Given the description of an element on the screen output the (x, y) to click on. 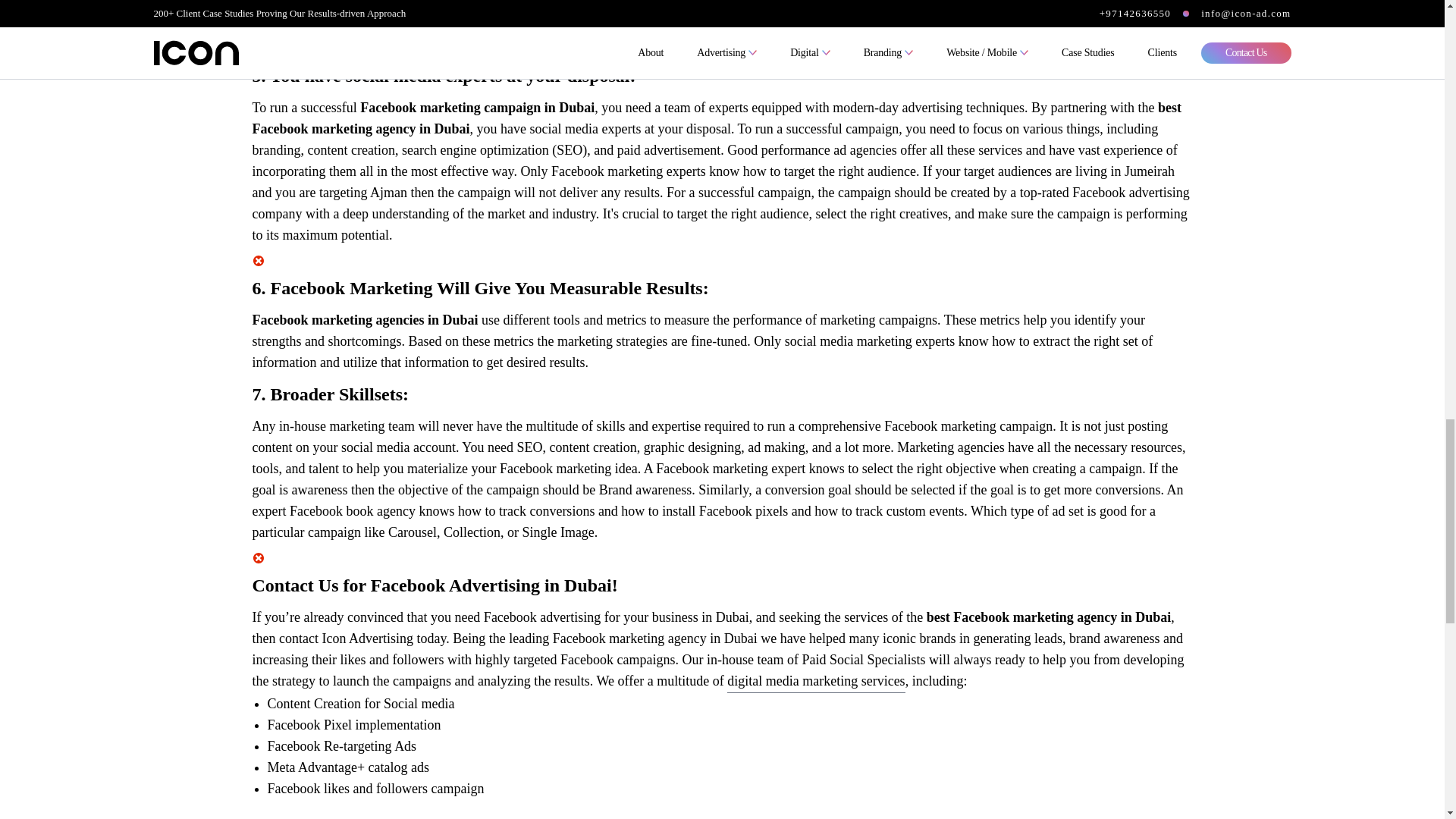
digital media marketing services (815, 681)
